Given the description of an element on the screen output the (x, y) to click on. 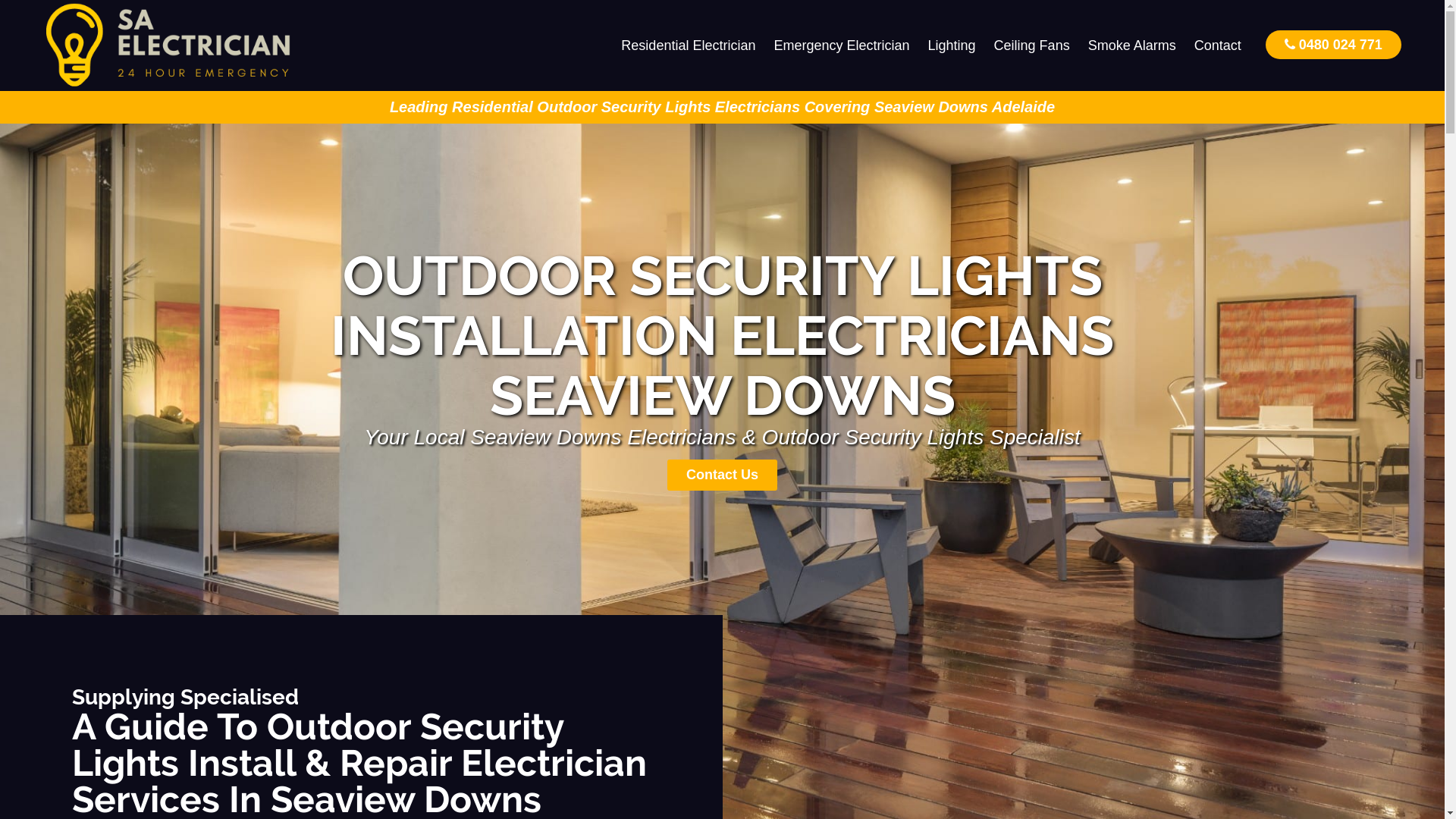
Contact Element type: text (1217, 45)
Residential Electrician Element type: text (687, 45)
0480 024 771 Element type: text (1333, 44)
Contact Us Element type: text (722, 474)
Smoke Alarms Element type: text (1132, 45)
Ceiling Fans Element type: text (1032, 45)
Emergency Electrician Element type: text (841, 45)
Lighting Element type: text (952, 45)
